Given the description of an element on the screen output the (x, y) to click on. 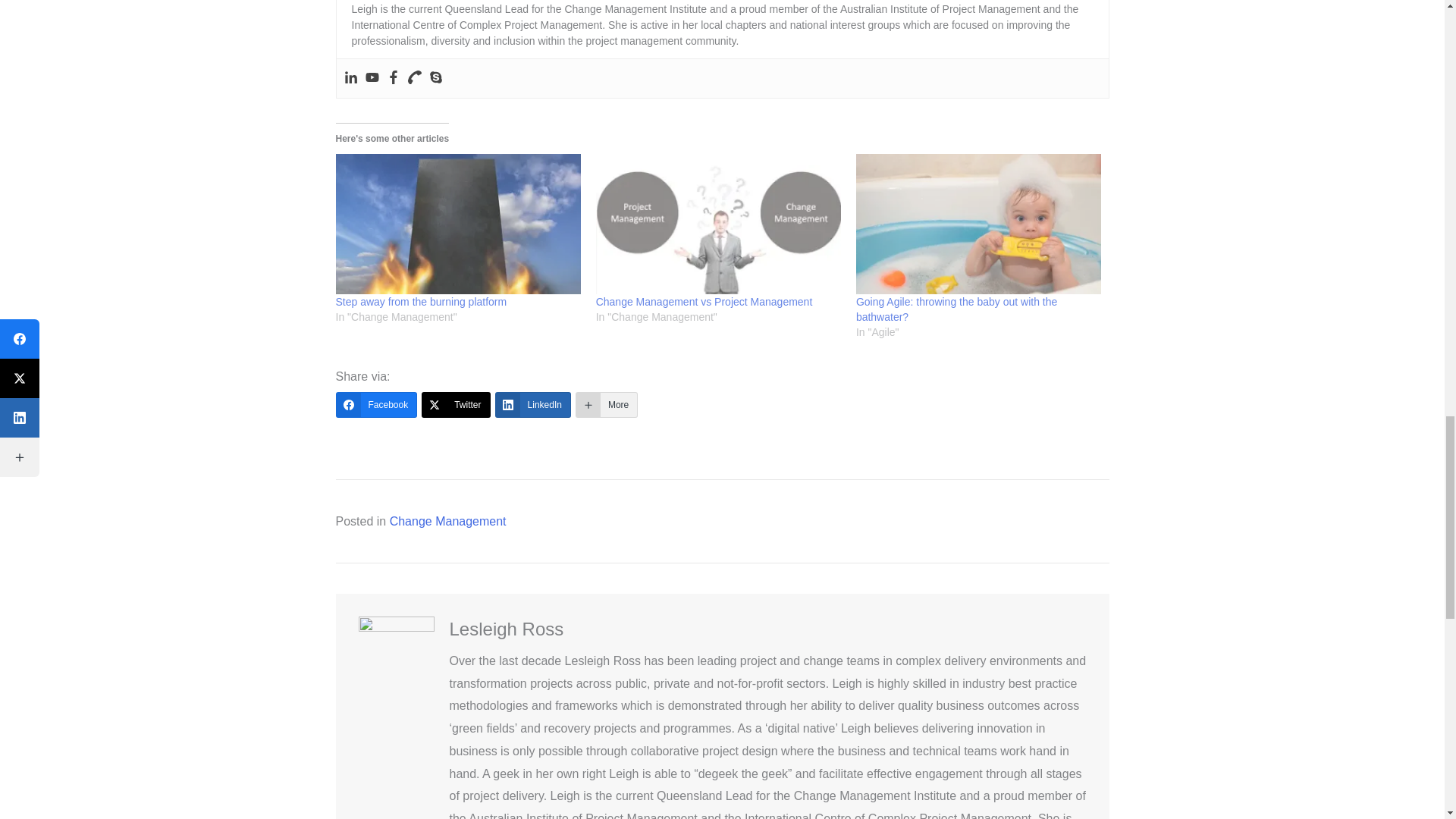
Change Management vs Project Management (703, 301)
Step away from the burning platform (420, 301)
Going Agile: throwing the baby out with the bathwater? (956, 308)
Change Management vs Project Management (718, 223)
Step away from the burning platform (456, 223)
Going Agile: throwing the baby out with the bathwater? (978, 223)
